Given the description of an element on the screen output the (x, y) to click on. 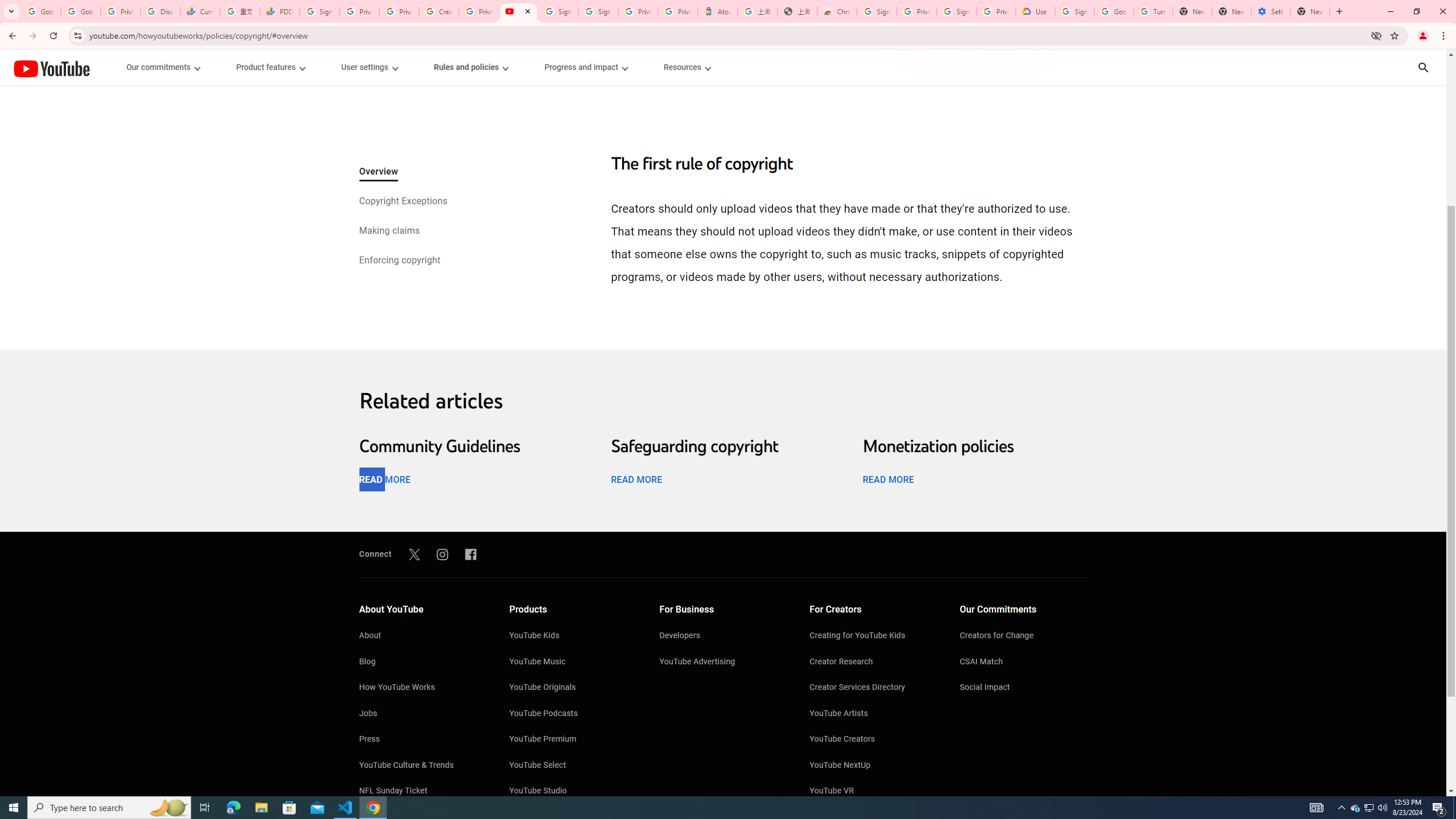
Sign in - Google Accounts (319, 11)
How YouTube Works (422, 687)
Creators for Change (1023, 636)
About (422, 636)
Settings - System (1270, 11)
YouTube NextUp (873, 765)
Press (422, 740)
Currencies - Google Finance (199, 11)
Turn cookies on or off - Computer - Google Account Help (1152, 11)
Create your Google Account (438, 11)
Google Account Help (1113, 11)
